Given the description of an element on the screen output the (x, y) to click on. 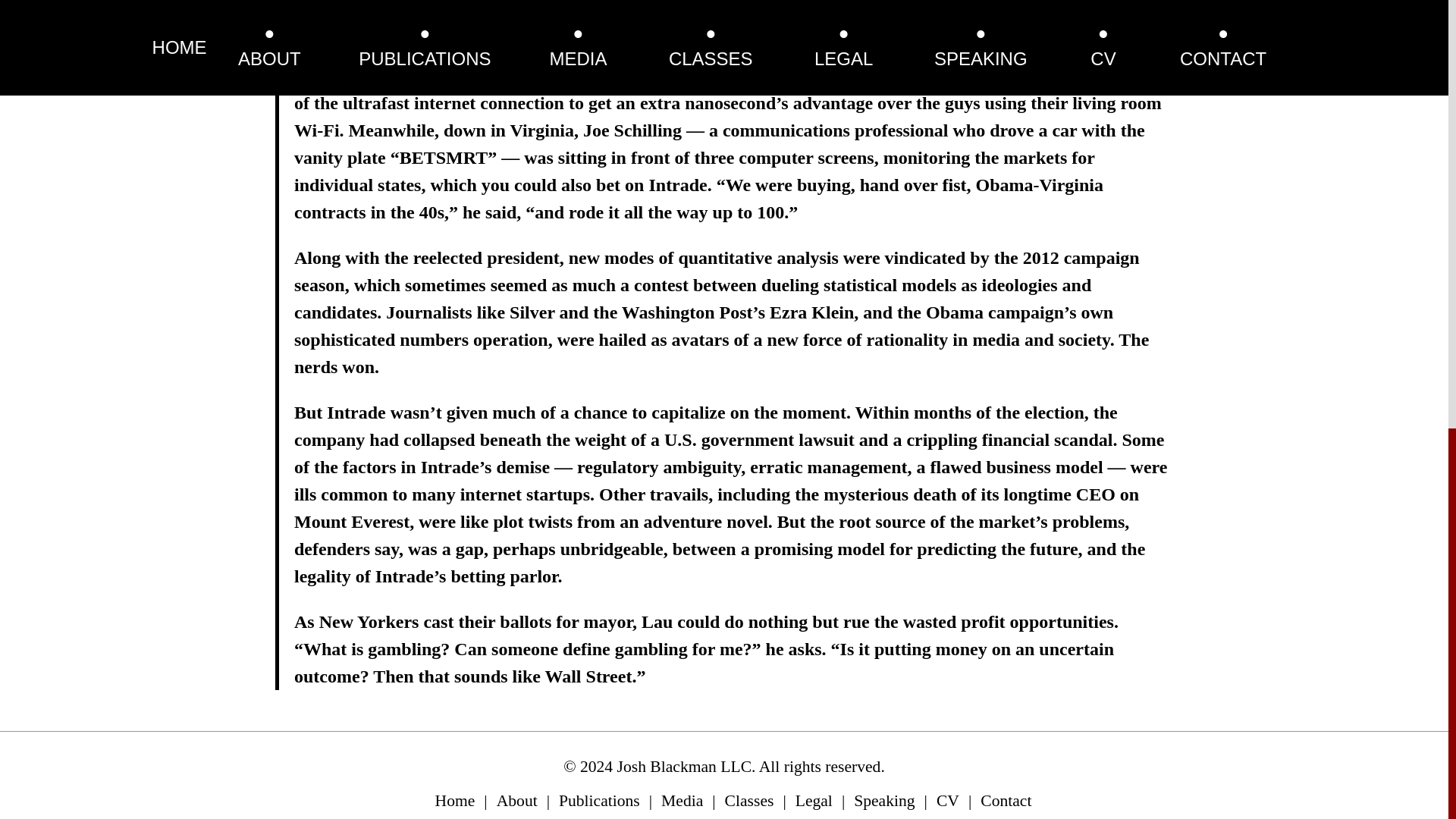
Speaking (883, 800)
Contact (1004, 800)
Classes (749, 800)
Publications (599, 800)
About (516, 800)
Home (455, 800)
Media (682, 800)
Legal (813, 800)
CV (947, 800)
